Given the description of an element on the screen output the (x, y) to click on. 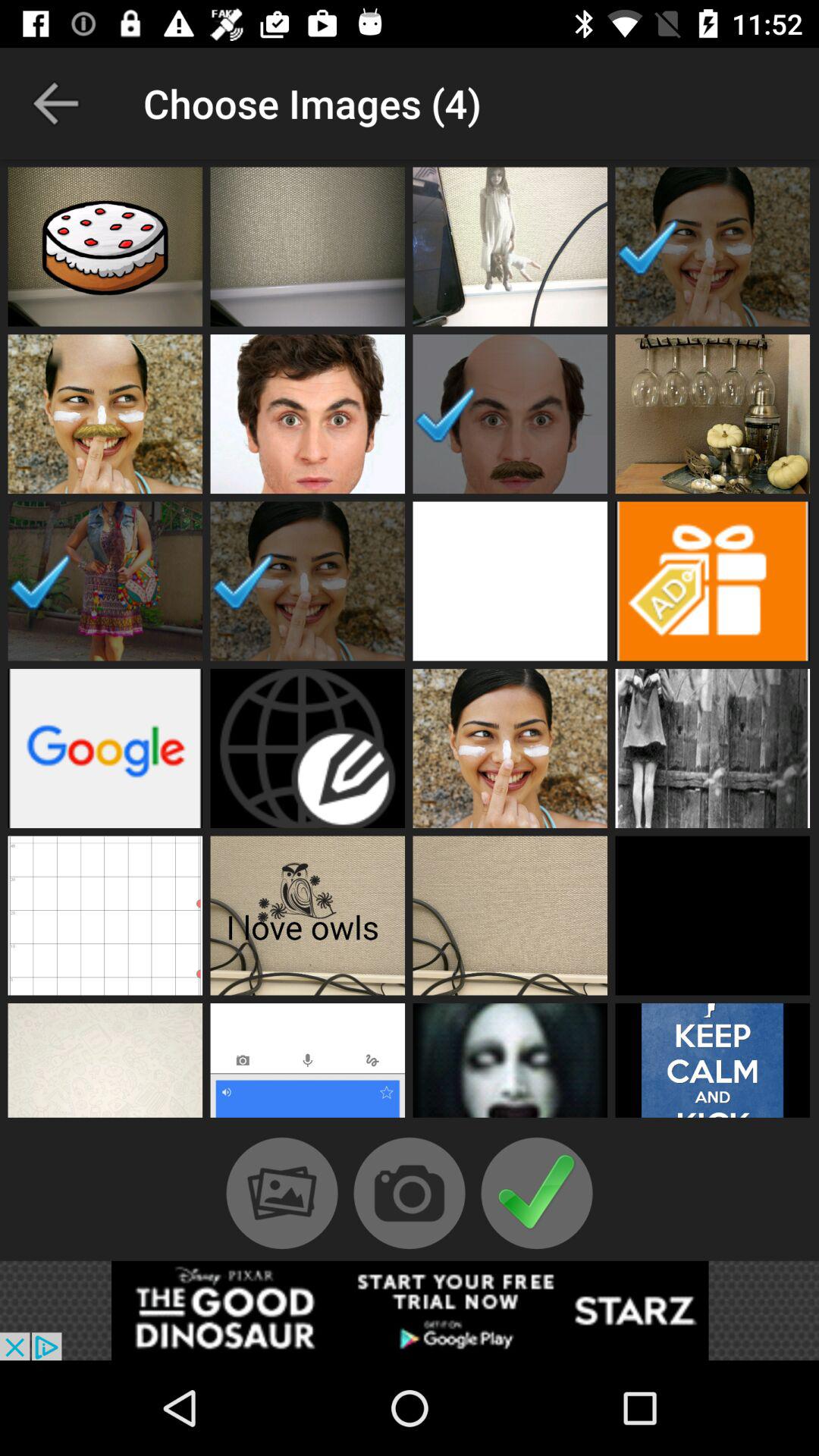
open picture (509, 413)
